Given the description of an element on the screen output the (x, y) to click on. 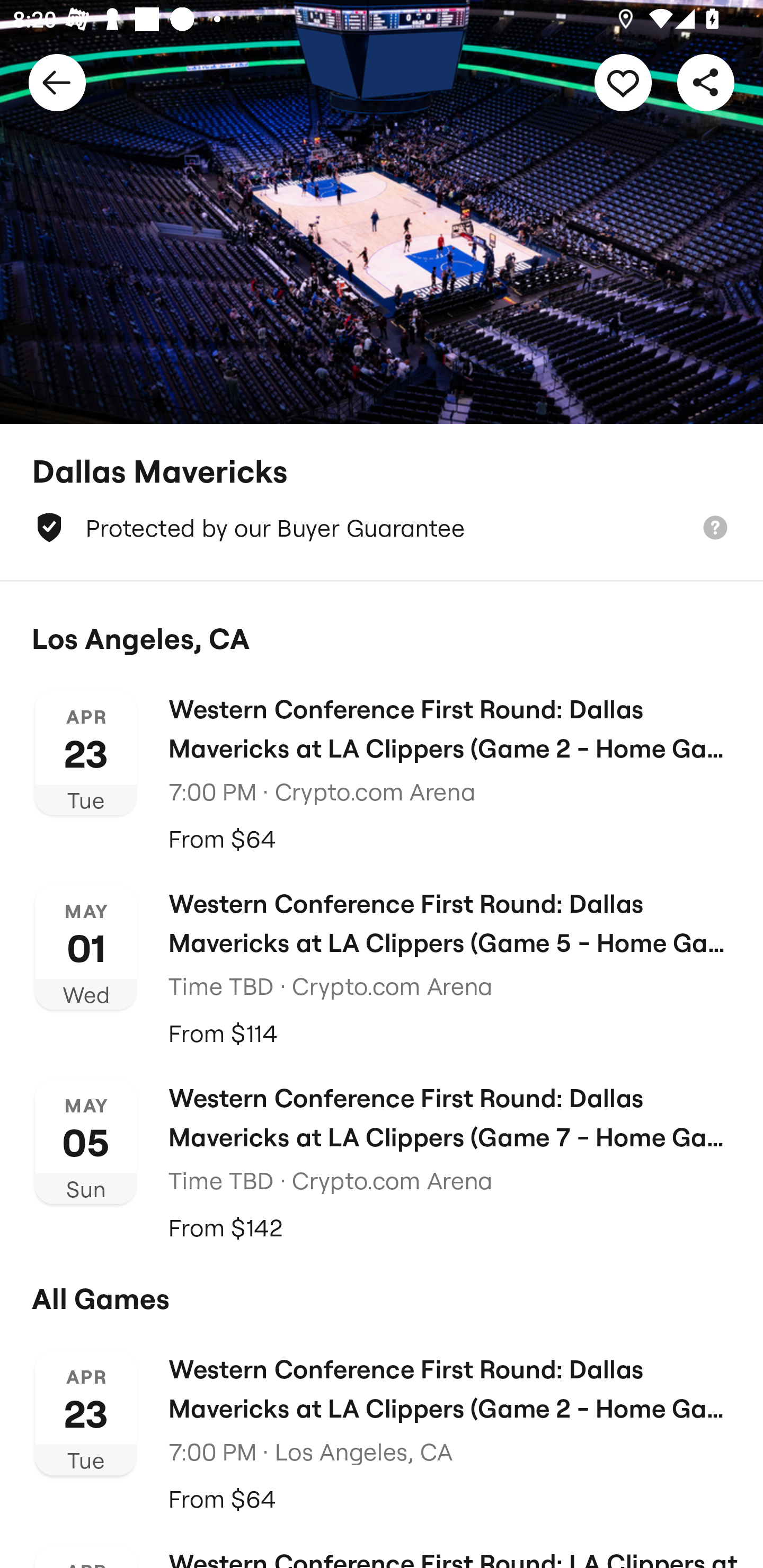
Back (57, 81)
Track this performer (623, 81)
Share this performer (705, 81)
Protected by our Buyer Guarantee Learn more (381, 527)
